Given the description of an element on the screen output the (x, y) to click on. 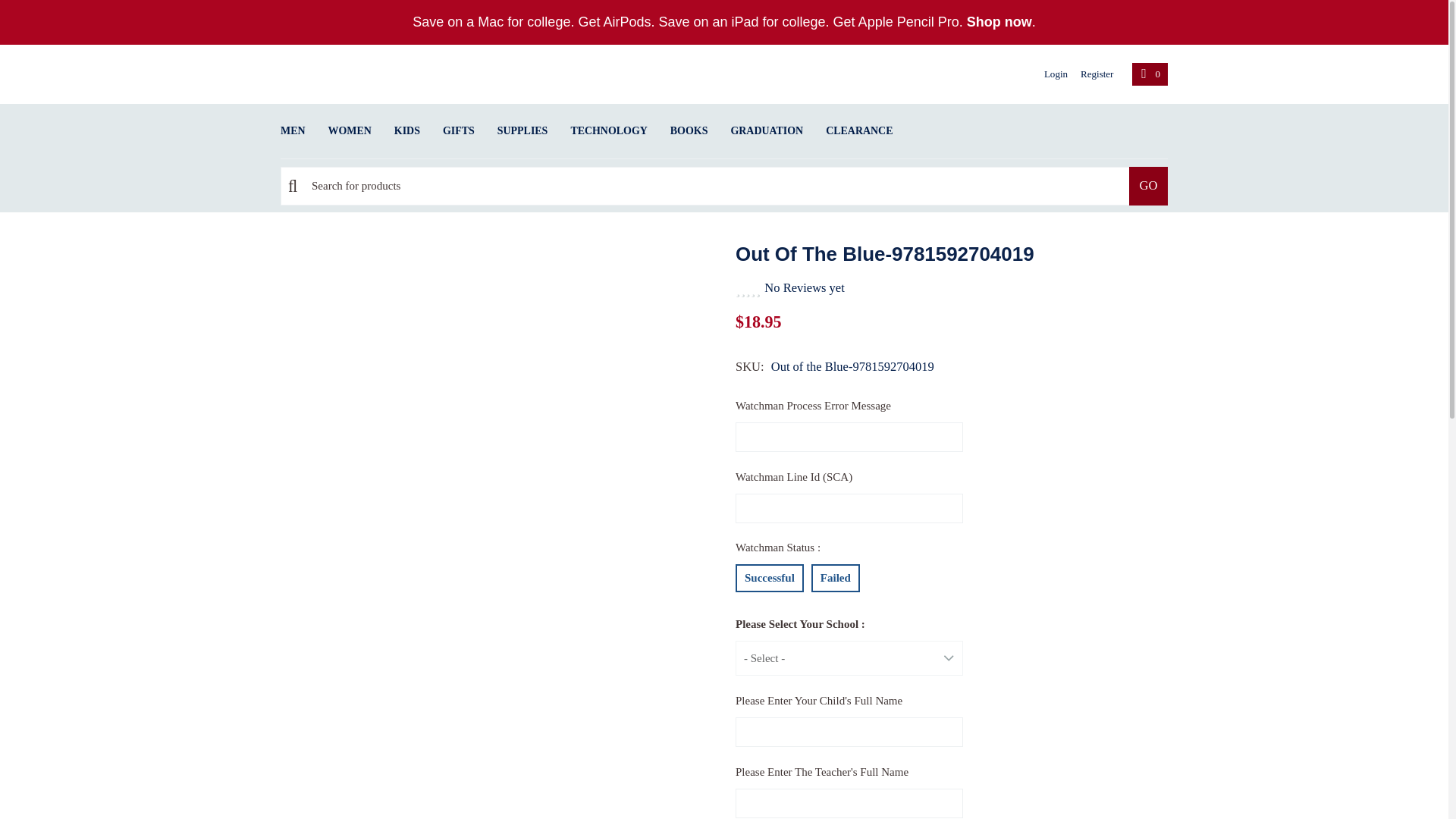
Shop now (999, 21)
WOMEN (349, 131)
Register (1090, 74)
Cart (1149, 74)
0 (1149, 74)
Login (1049, 74)
